Given the description of an element on the screen output the (x, y) to click on. 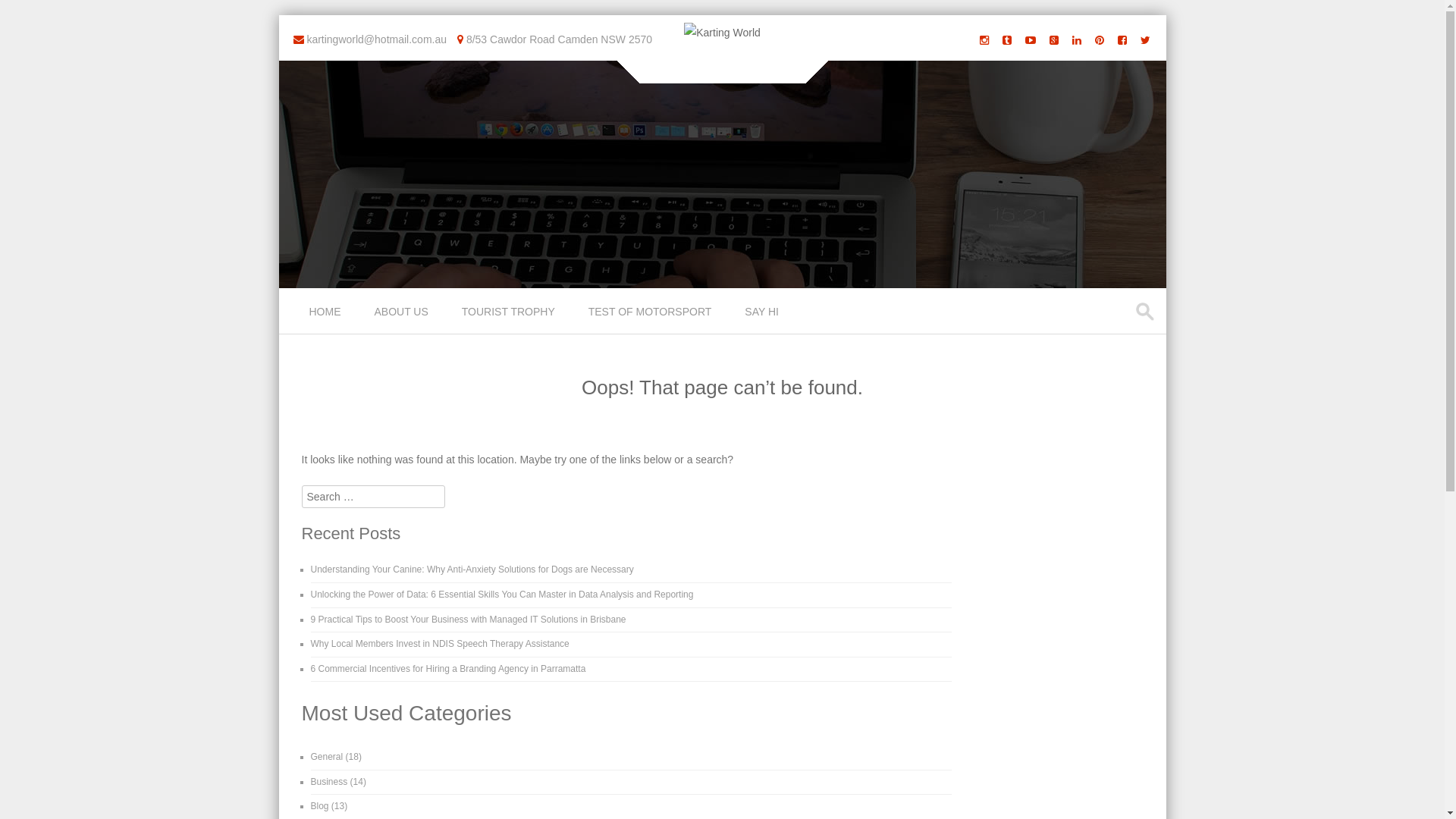
Twitter Element type: hover (1144, 39)
General Element type: text (326, 756)
Blog Element type: text (319, 805)
Pinterest Element type: hover (1099, 39)
Instagram Element type: hover (984, 39)
search Element type: hover (1146, 311)
Google+ Element type: hover (1053, 39)
TEST OF MOTORSPORT Element type: text (651, 310)
Why Local Members Invest in NDIS Speech Therapy Assistance Element type: text (439, 643)
Skip to content Element type: text (314, 297)
Facebook Element type: hover (1122, 39)
ABOUT US Element type: text (402, 310)
SAY HI Element type: text (763, 310)
Business Element type: text (329, 781)
LinkedIn Element type: hover (1076, 39)
Karting World Element type: hover (722, 32)
Youtube Element type: hover (1030, 39)
HOME Element type: text (326, 310)
Search Element type: text (26, 14)
TOURIST TROPHY Element type: text (509, 310)
Menu Element type: text (305, 320)
Tumblr Element type: hover (1006, 39)
